Given the description of an element on the screen output the (x, y) to click on. 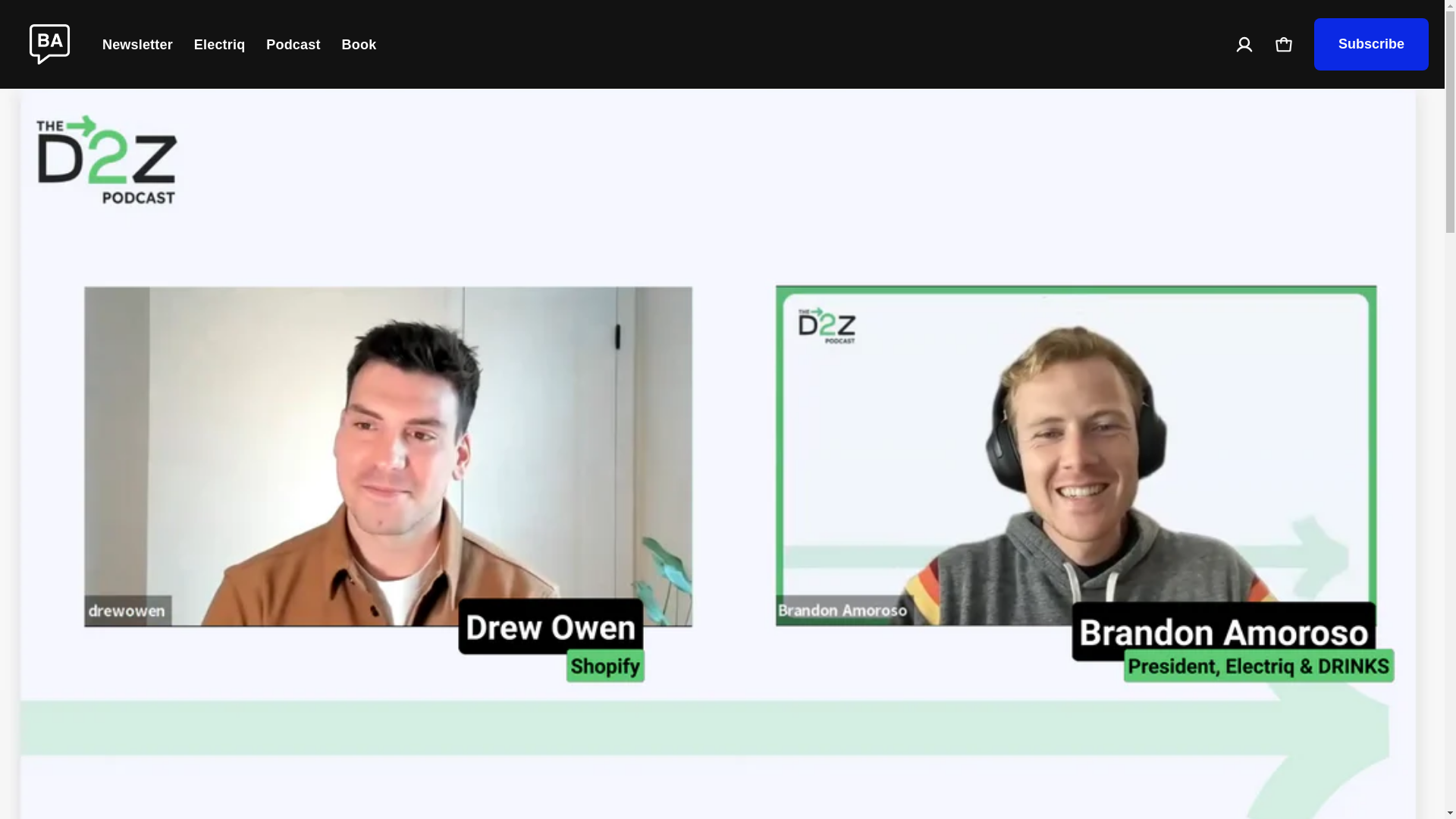
Electriq (218, 44)
Skip to content (73, 27)
Book (359, 44)
Podcast (293, 44)
Subscribe (1371, 44)
Newsletter (137, 44)
